Given the description of an element on the screen output the (x, y) to click on. 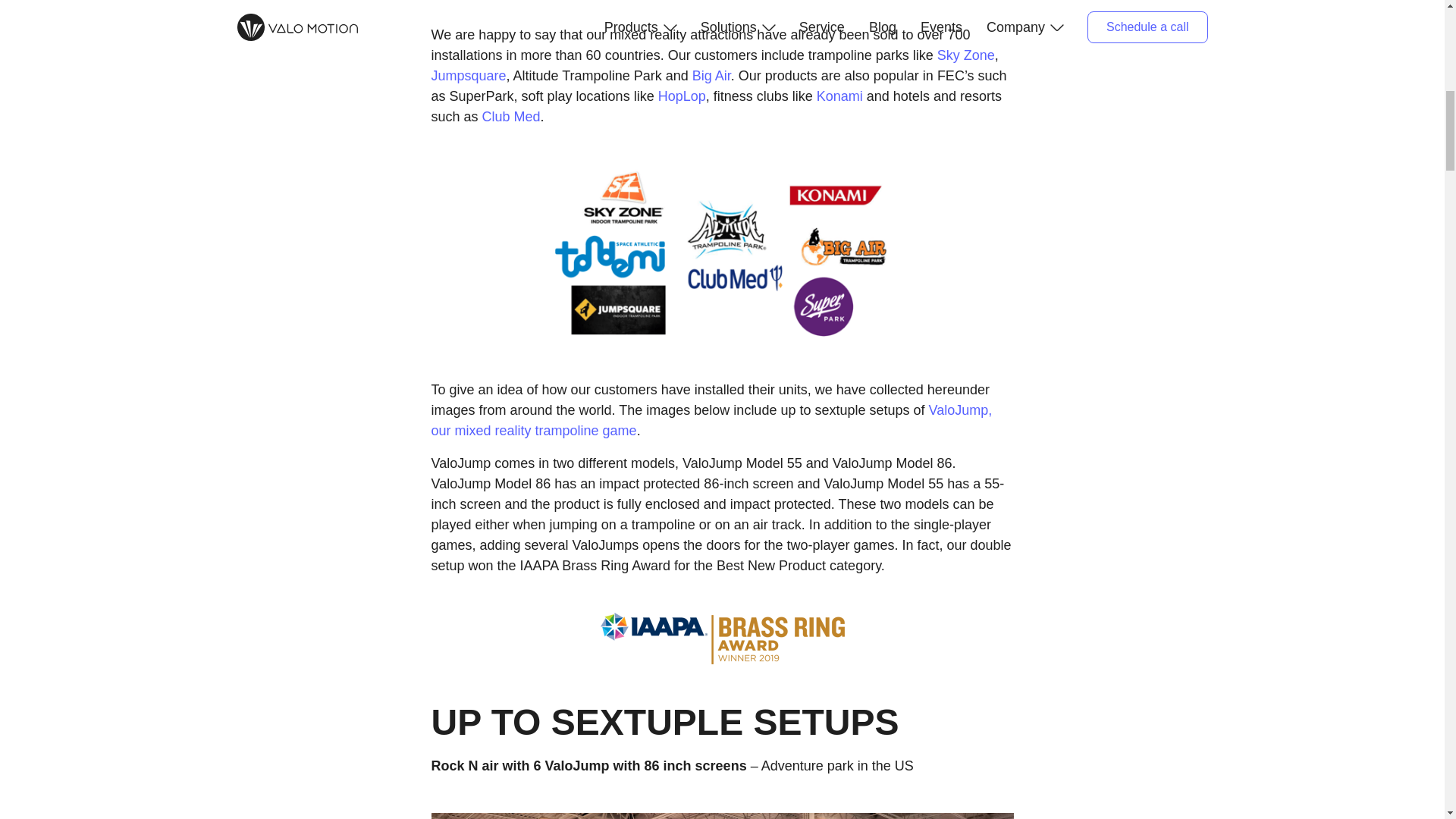
HopLop (682, 96)
Sky Zone (965, 55)
Jumpsquare (467, 75)
Club Med (510, 116)
ValoJump, our mixed reality trampoline game (710, 420)
Big Air (711, 75)
Konami (839, 96)
